Given the description of an element on the screen output the (x, y) to click on. 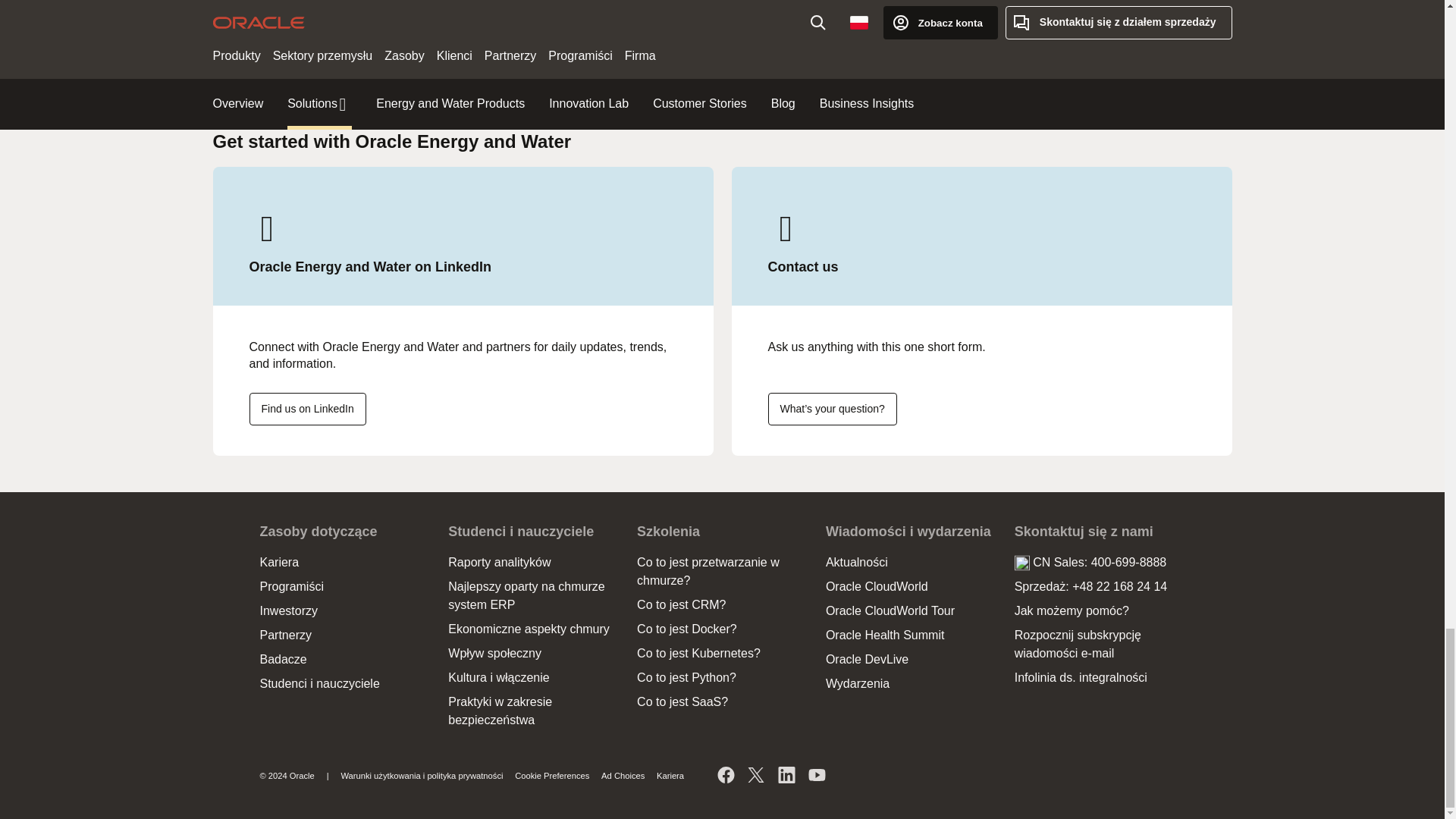
Get more information about Oracle Energy and Water (831, 409)
